Given the description of an element on the screen output the (x, y) to click on. 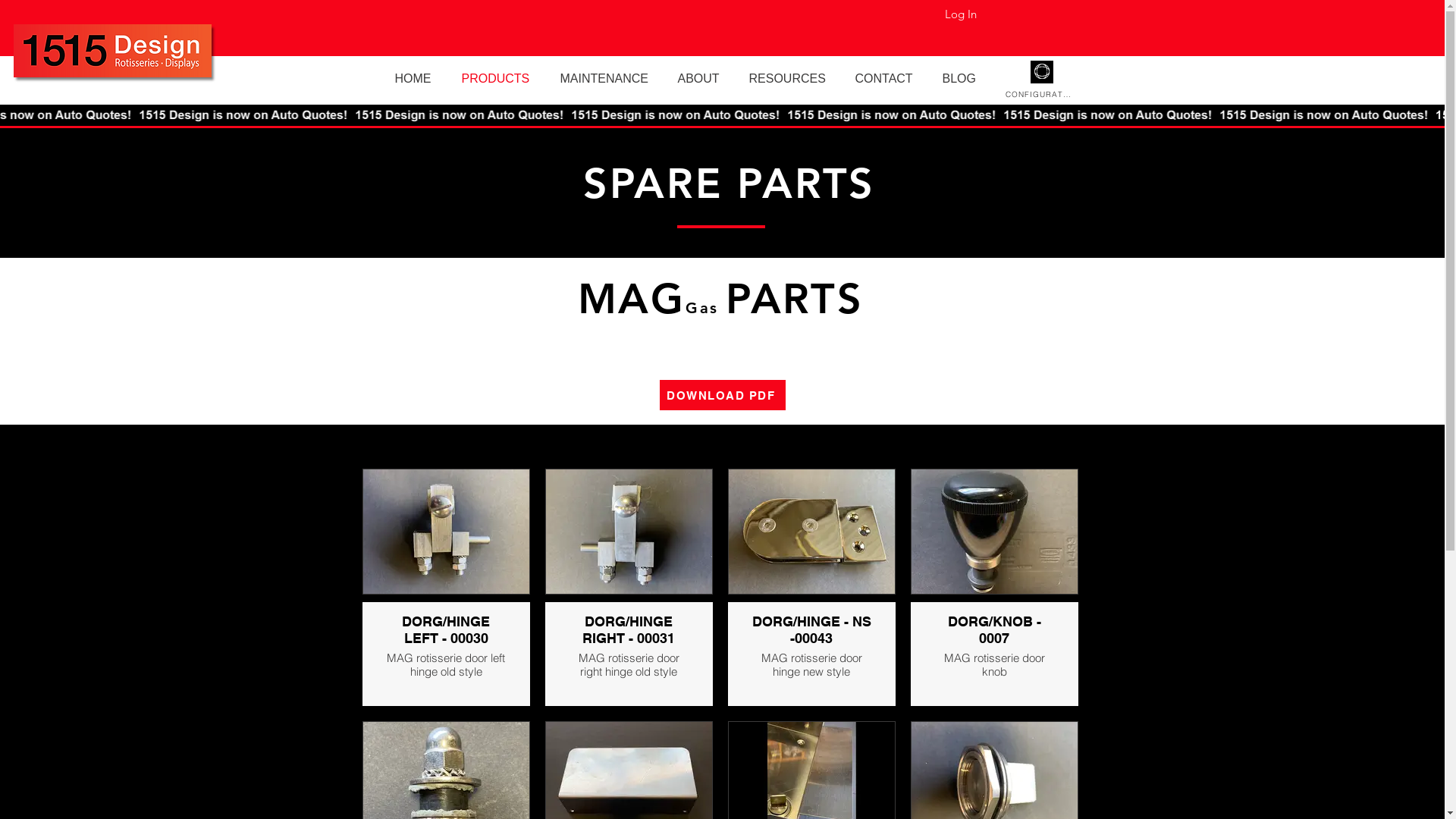
RESOURCES Element type: text (790, 78)
MAINTENANCE Element type: text (607, 78)
CONFIGURATOR Element type: text (1041, 94)
DOWNLOAD PDF Element type: text (722, 394)
Doregrill 3D Configurator Element type: hover (1040, 70)
Log In Element type: text (960, 13)
HOME Element type: text (416, 78)
ABOUT Element type: text (701, 78)
Doregrill Distributor Element type: hover (112, 50)
BLOG Element type: text (962, 78)
CONTACT Element type: text (886, 78)
PRODUCTS Element type: text (499, 78)
